Given the description of an element on the screen output the (x, y) to click on. 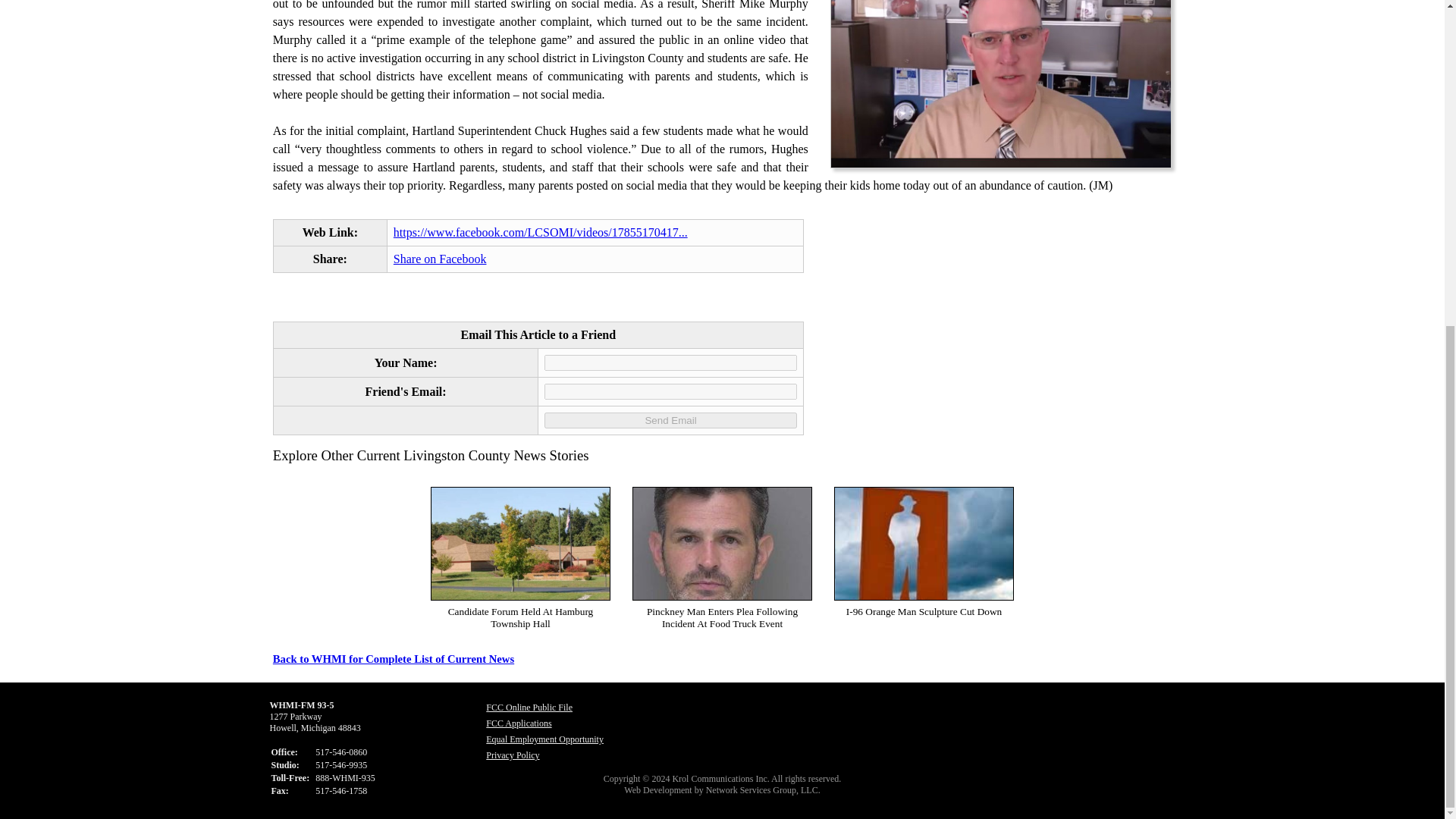
Send Email (670, 420)
